Given the description of an element on the screen output the (x, y) to click on. 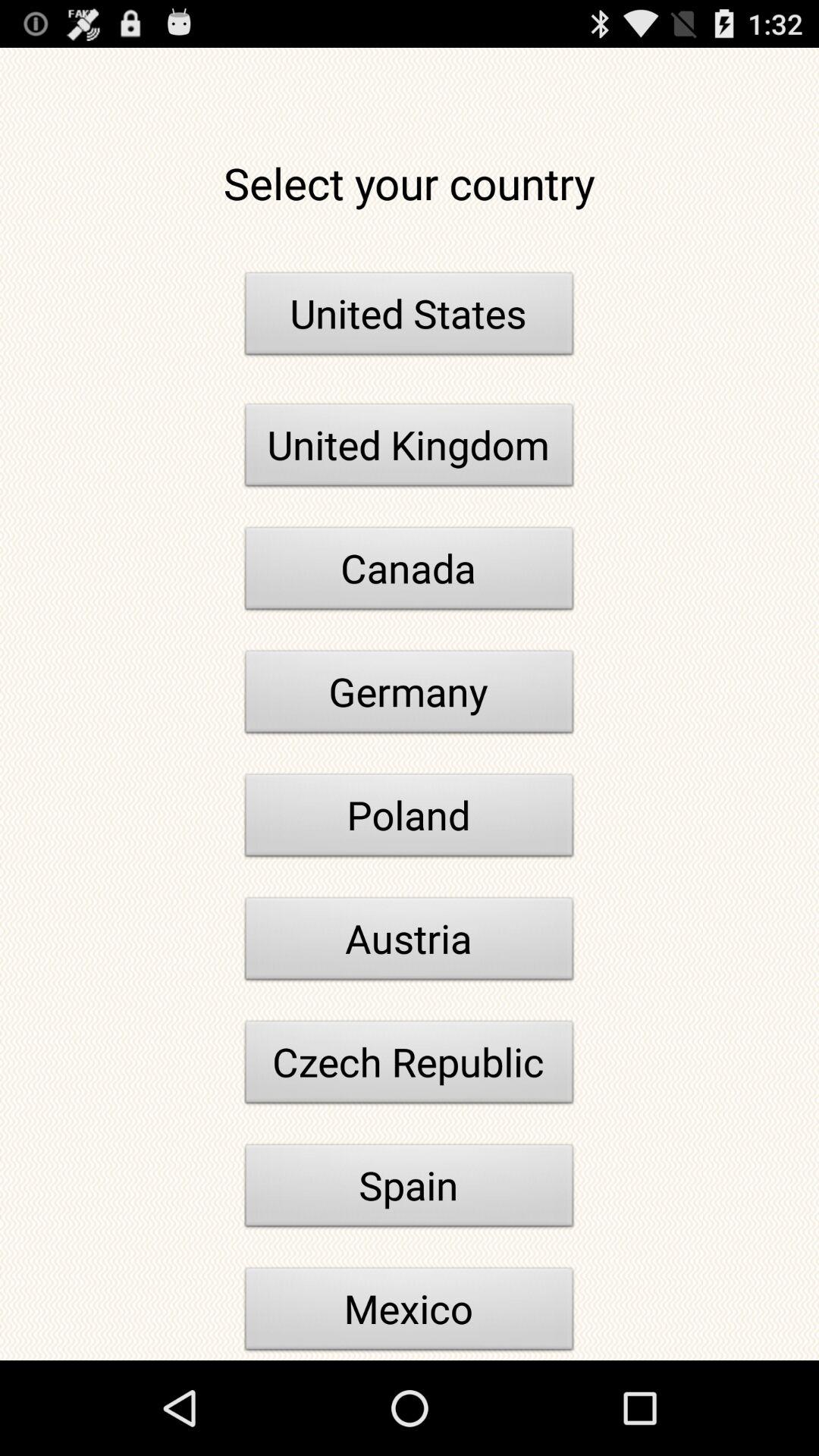
tap the item above the czech republic (409, 942)
